Given the description of an element on the screen output the (x, y) to click on. 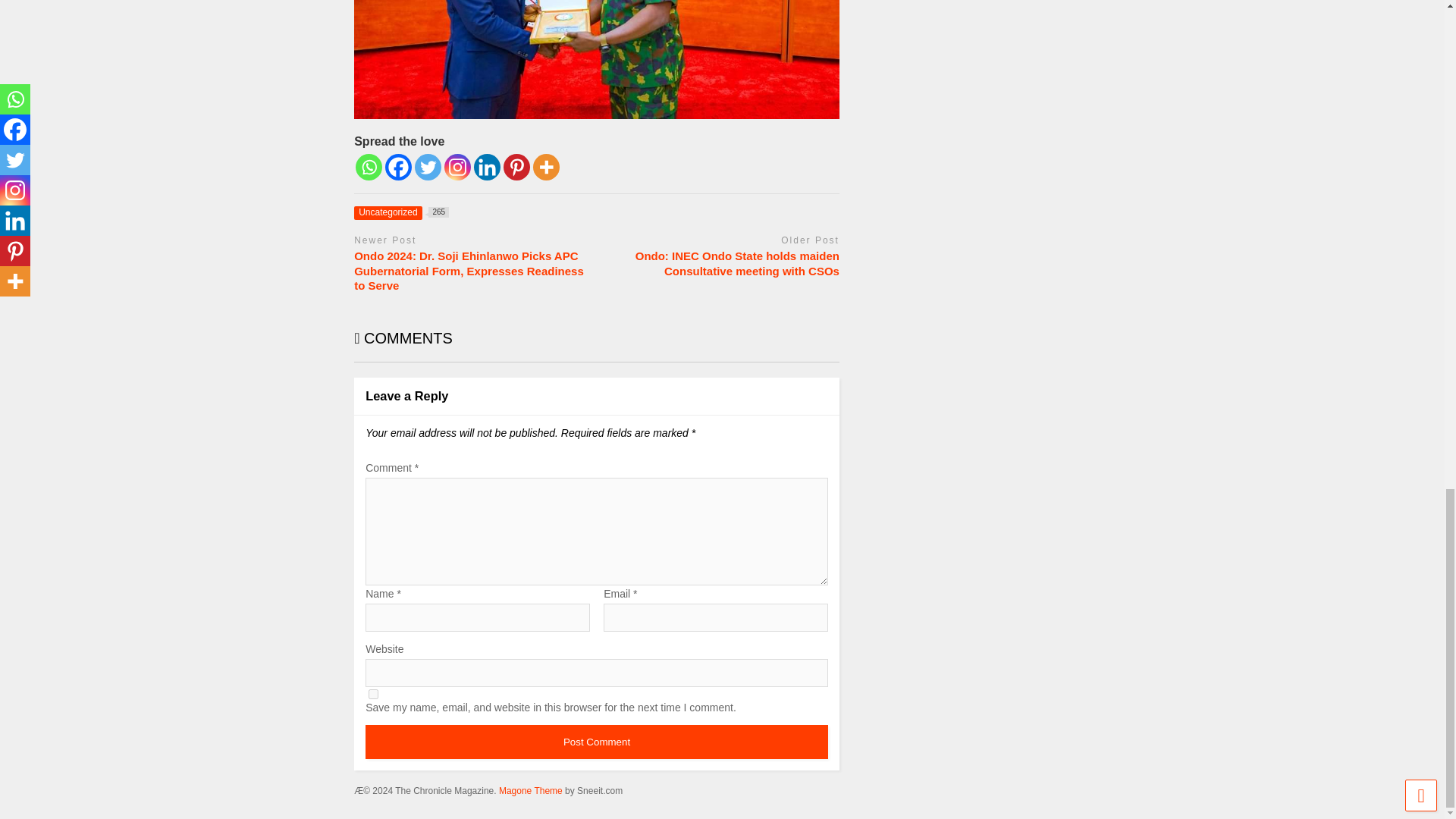
yes (400, 212)
Facebook (373, 694)
Post Comment (398, 166)
Post Comment (596, 741)
Whatsapp (596, 741)
Instagram (368, 166)
Linkedin (457, 166)
Twitter (487, 166)
More (427, 166)
Pinterest (545, 166)
Magone Theme (516, 166)
